Given the description of an element on the screen output the (x, y) to click on. 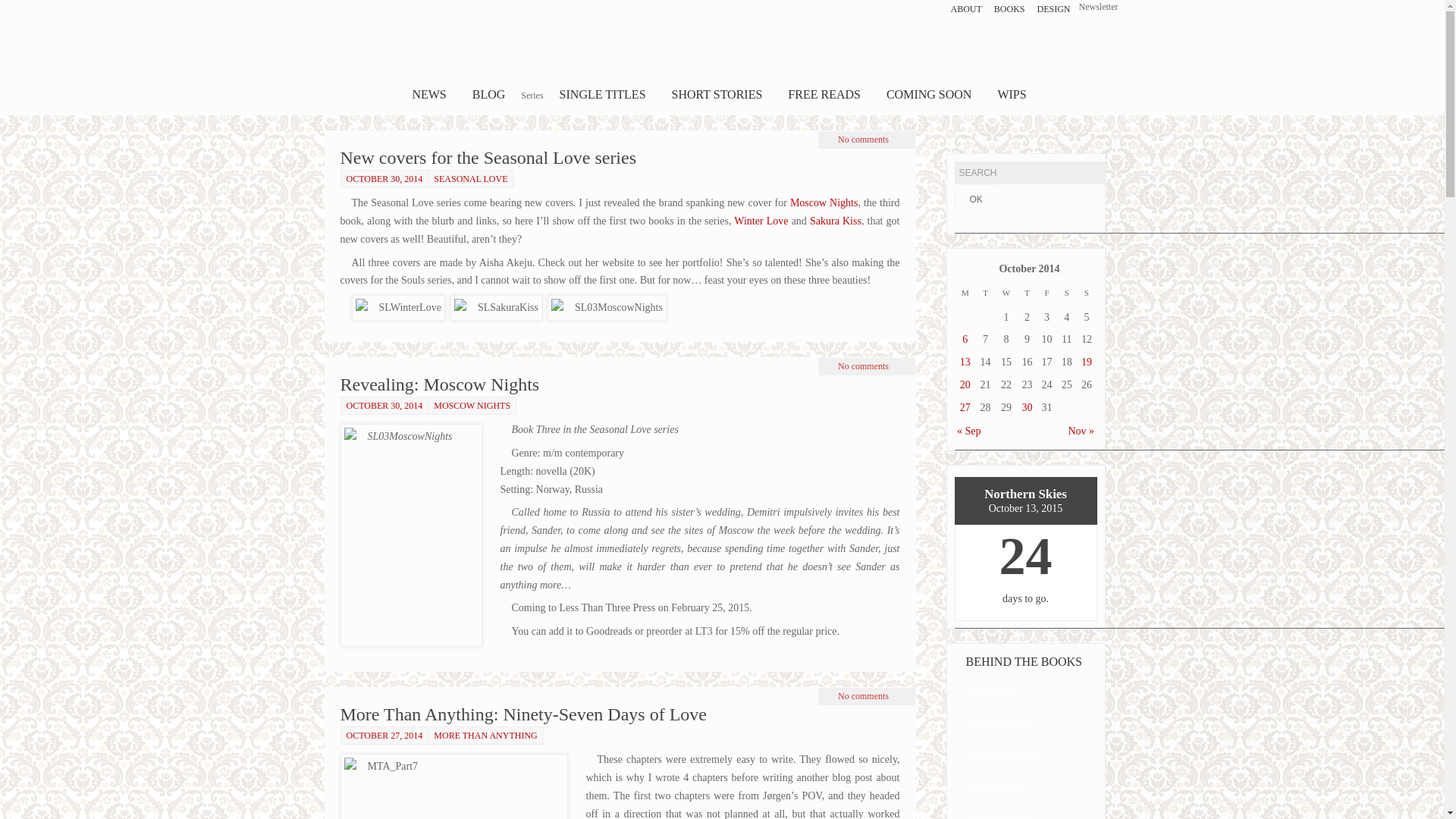
SHORT STORIES (717, 94)
SINGLE TITLES (603, 94)
DESIGN (1053, 9)
ABOUT (965, 9)
Permalink to More Than Anything: Ninety-Seven Days of Love (522, 713)
FREE READS (823, 94)
SEARCH (1029, 172)
OK (975, 199)
BLOG (489, 94)
COMING SOON (928, 94)
